Given the description of an element on the screen output the (x, y) to click on. 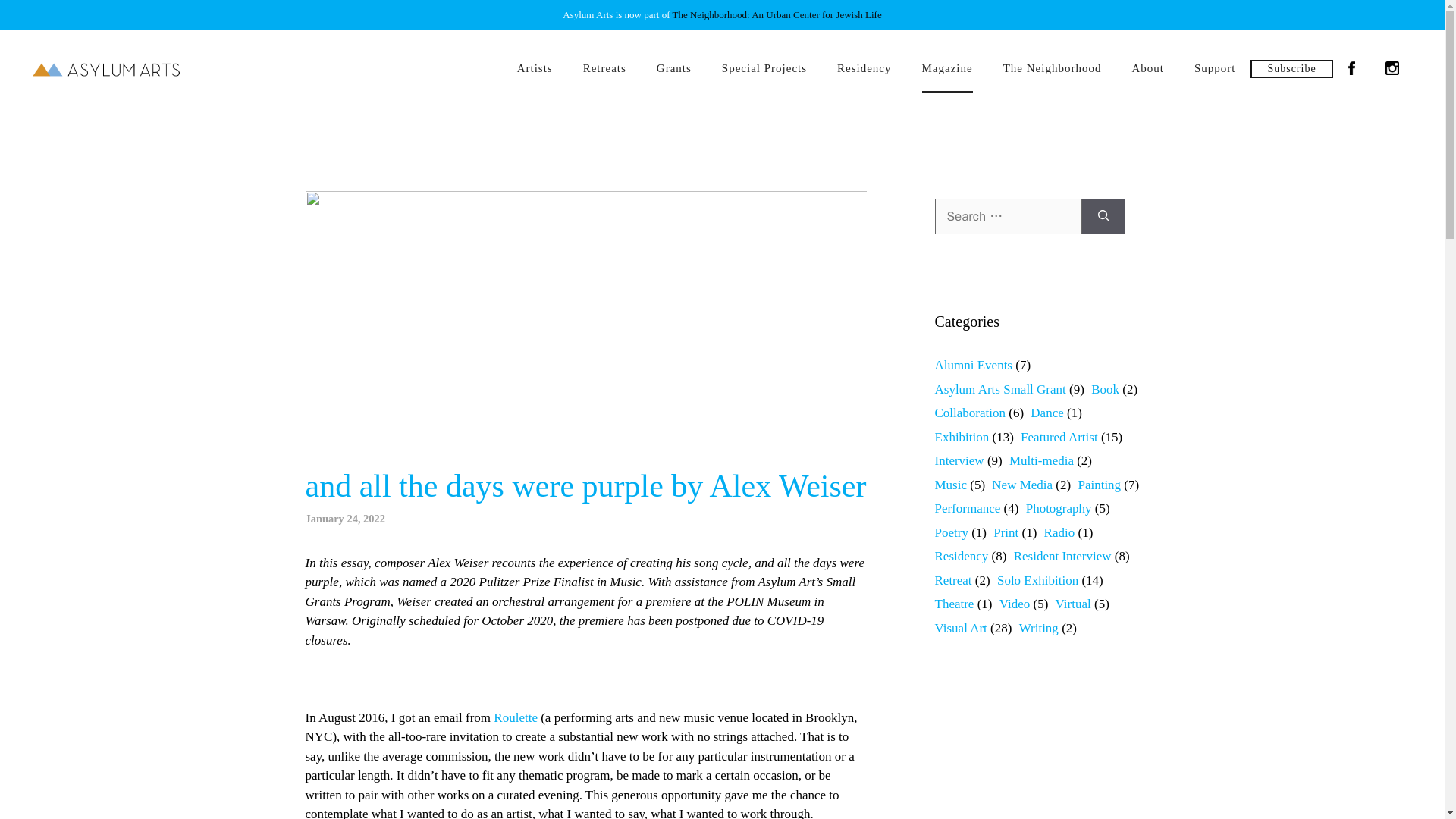
Grants (674, 68)
Artists (534, 68)
Search for: (1007, 217)
Roulette (515, 717)
About (1147, 68)
Support (1214, 68)
Residency (863, 68)
Retreats (604, 68)
Alumni Events (972, 364)
Subscribe (1291, 67)
Magazine (947, 68)
The Neighborhood: An Urban Center for Jewish Life (777, 14)
The Neighborhood (1052, 68)
Special Projects (764, 68)
